Given the description of an element on the screen output the (x, y) to click on. 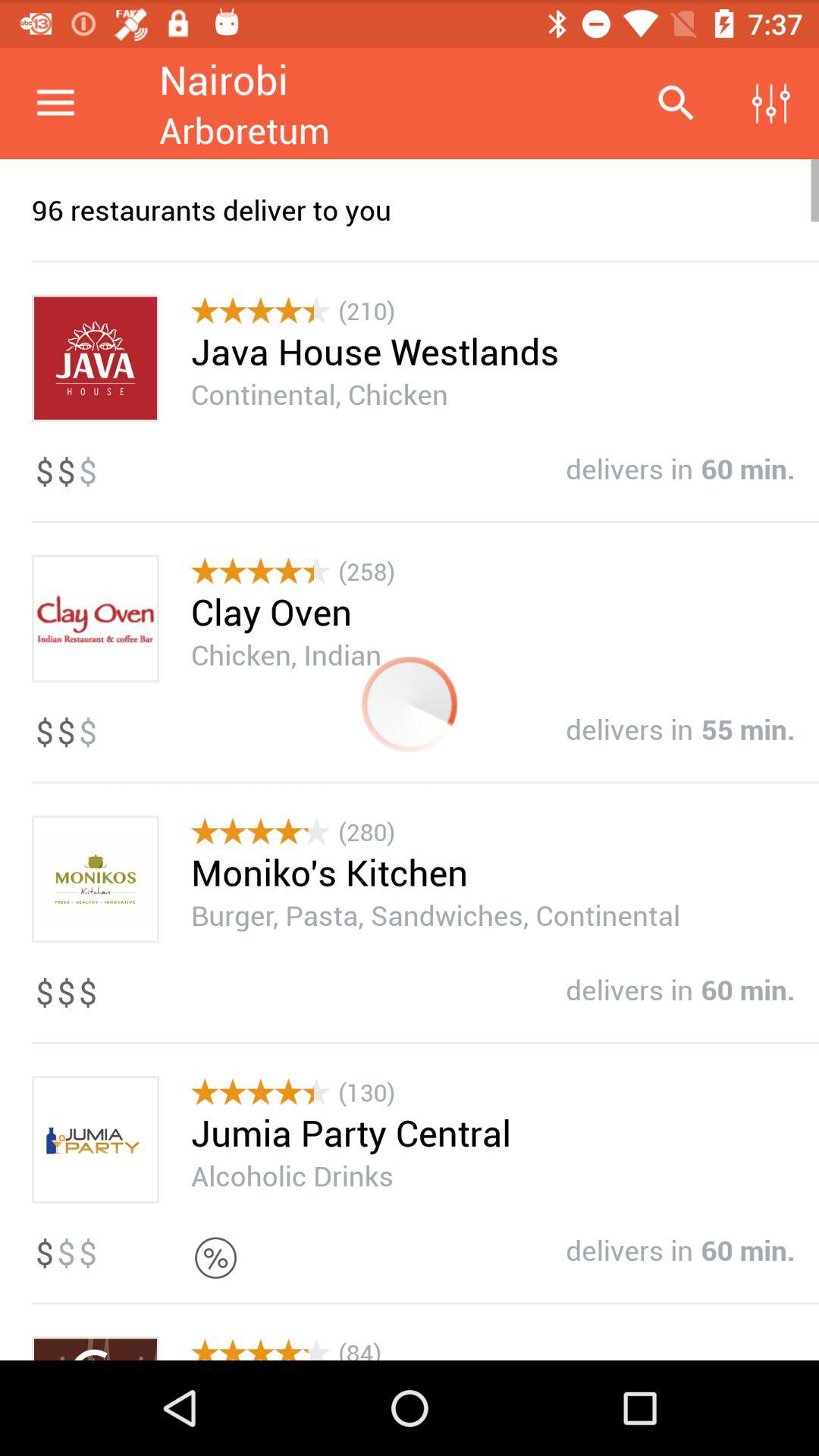
choose the item next to nairobi (675, 103)
